Given the description of an element on the screen output the (x, y) to click on. 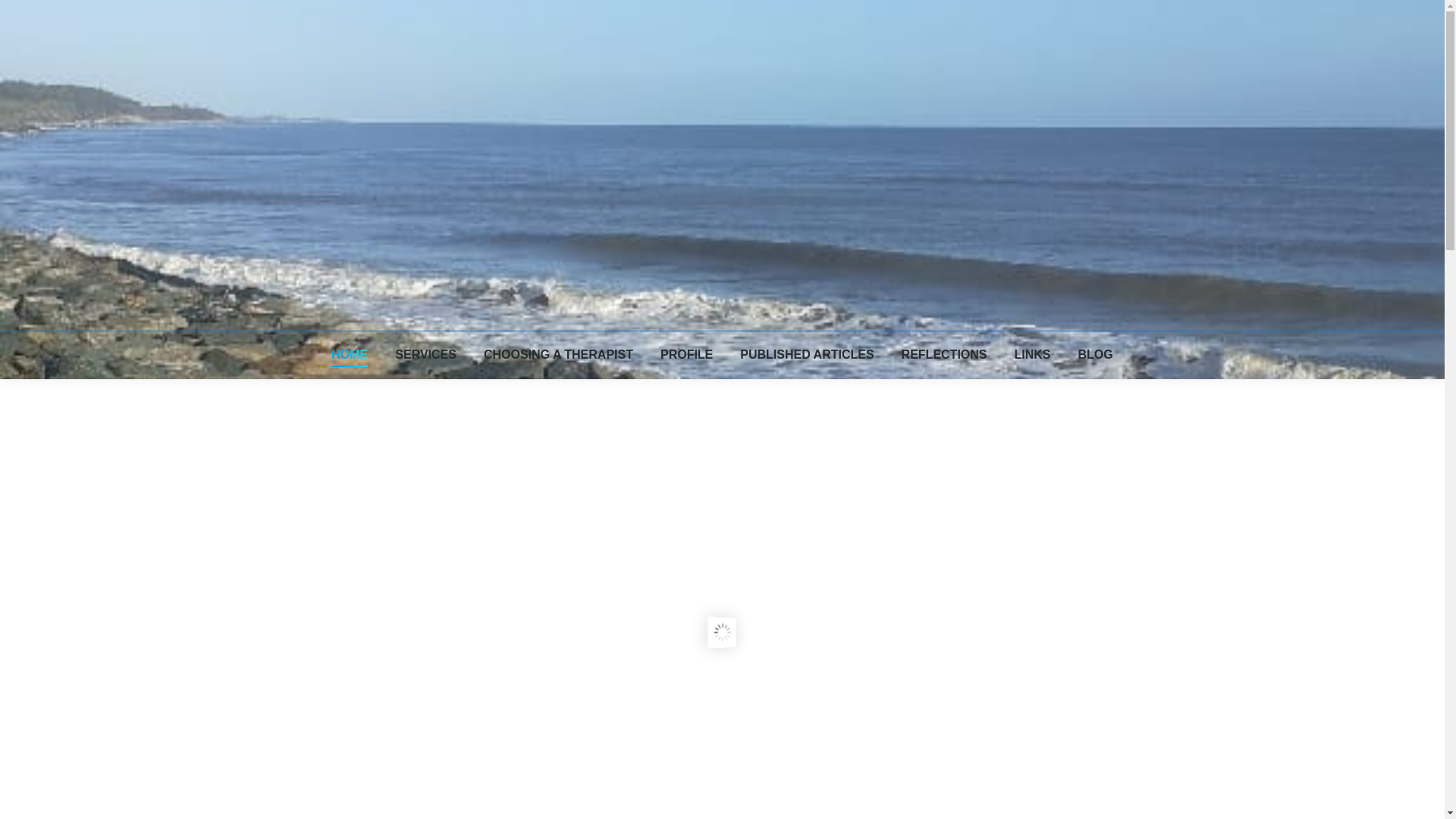
PUBLISHED ARTICLES (806, 354)
CHOOSING A THERAPIST (558, 354)
HOME (350, 354)
SERVICES (425, 354)
REFLECTIONS (944, 354)
PROFILE (687, 354)
LINKS (1032, 354)
BLOG (1095, 354)
